Given the description of an element on the screen output the (x, y) to click on. 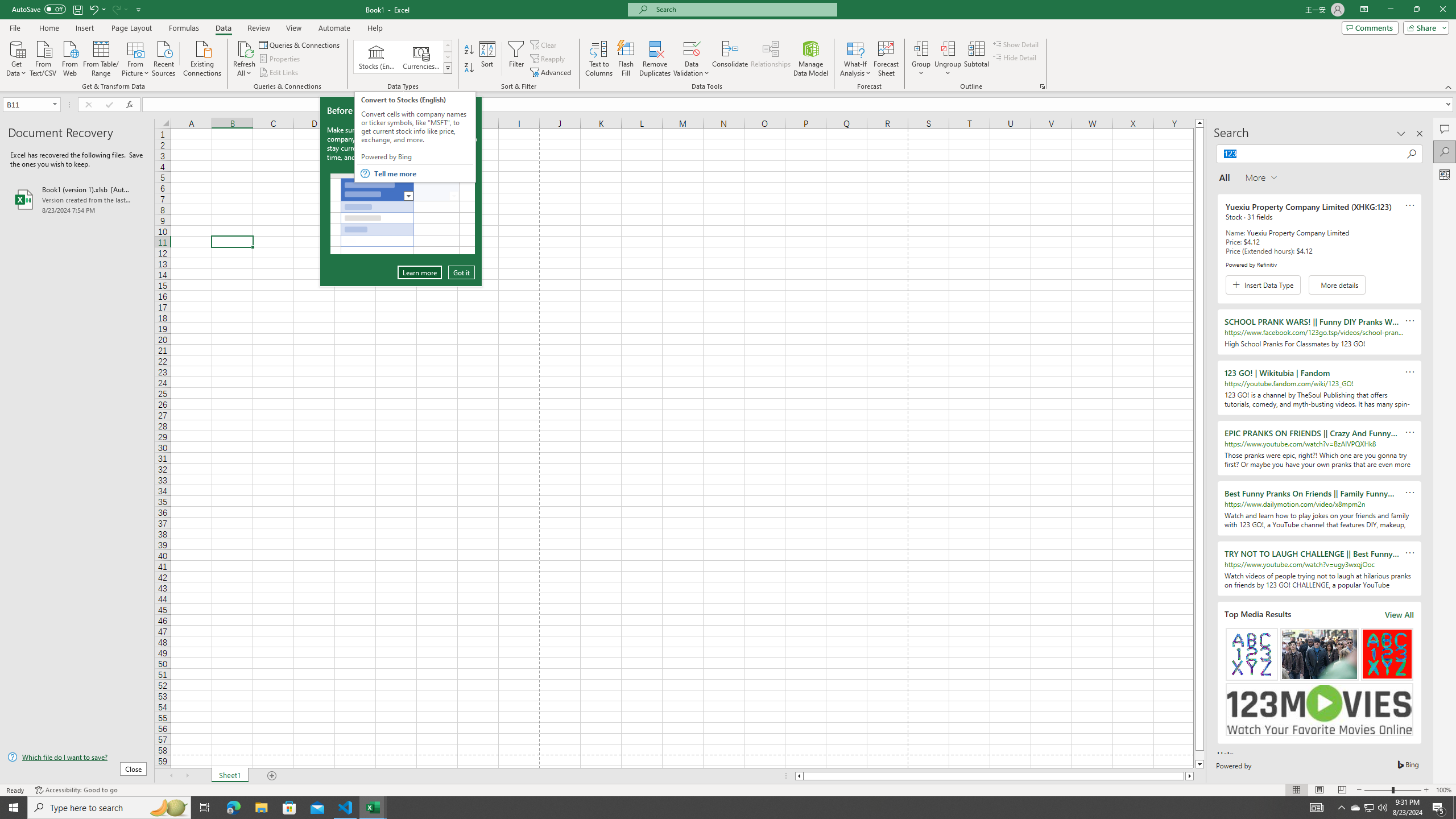
Task View (204, 807)
Running applications (717, 807)
Notification Chevron (1341, 807)
